Given the description of an element on the screen output the (x, y) to click on. 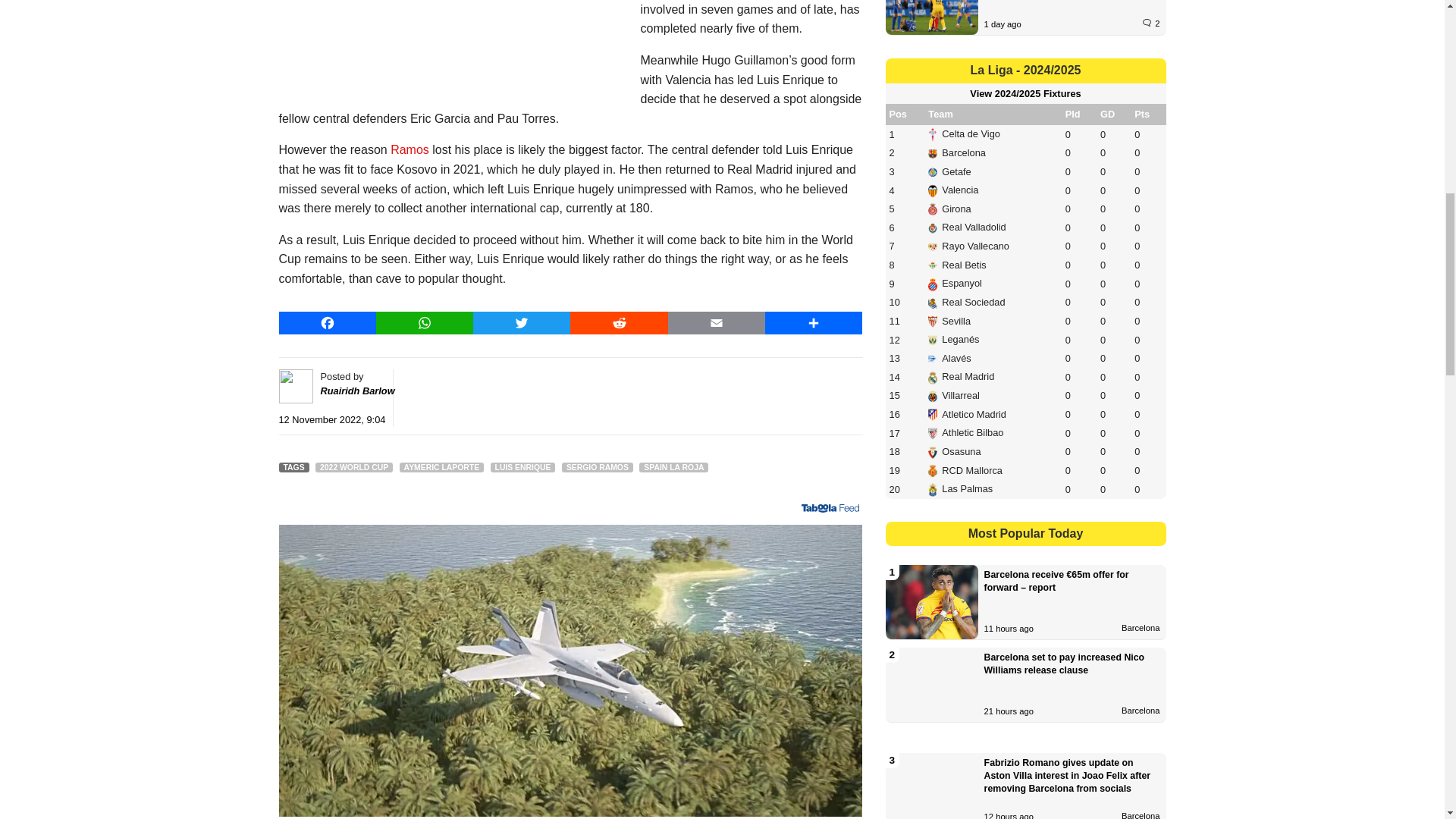
Facebook (327, 323)
WhatsApp (424, 323)
Twitter (521, 323)
Reddit (618, 323)
Email (716, 323)
